Given the description of an element on the screen output the (x, y) to click on. 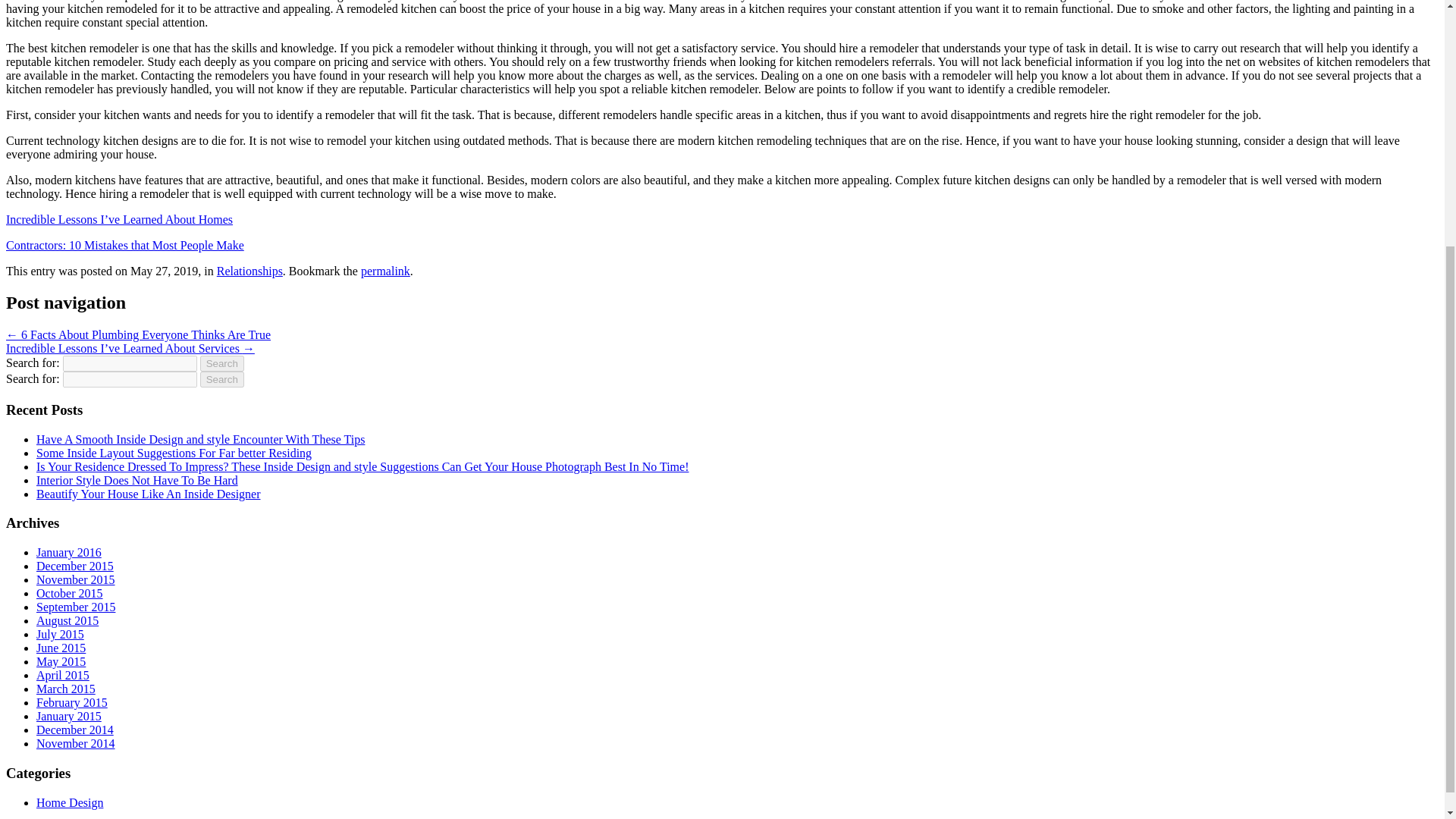
Beautify Your House Like An Inside Designer (148, 493)
April 2015 (62, 675)
Interior Style Does Not Have To Be Hard (137, 480)
July 2015 (60, 634)
January 2016 (68, 552)
June 2015 (60, 647)
March 2015 (66, 688)
Relationships (249, 269)
Permalink to Looking On The Bright Side of Contractors (385, 269)
February 2015 (71, 702)
December 2014 (74, 729)
October 2015 (69, 593)
January 2015 (68, 716)
Home Design (69, 802)
